Given the description of an element on the screen output the (x, y) to click on. 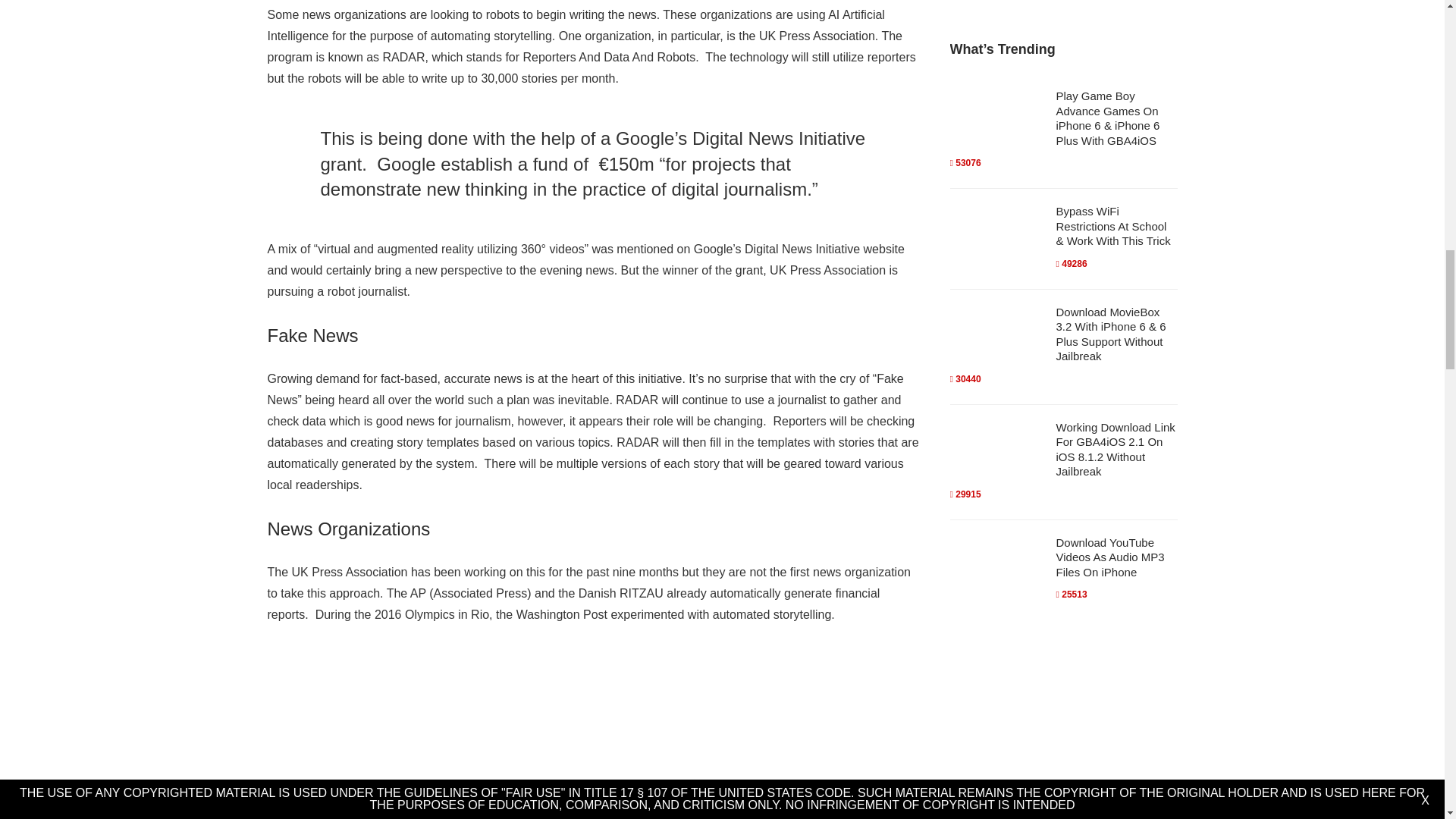
Views (964, 378)
Views (1070, 263)
Views (1070, 593)
Views (964, 493)
Views (964, 163)
View Download YouTube Videos As Audio MP3 Files On iPhone (1109, 557)
